Given the description of an element on the screen output the (x, y) to click on. 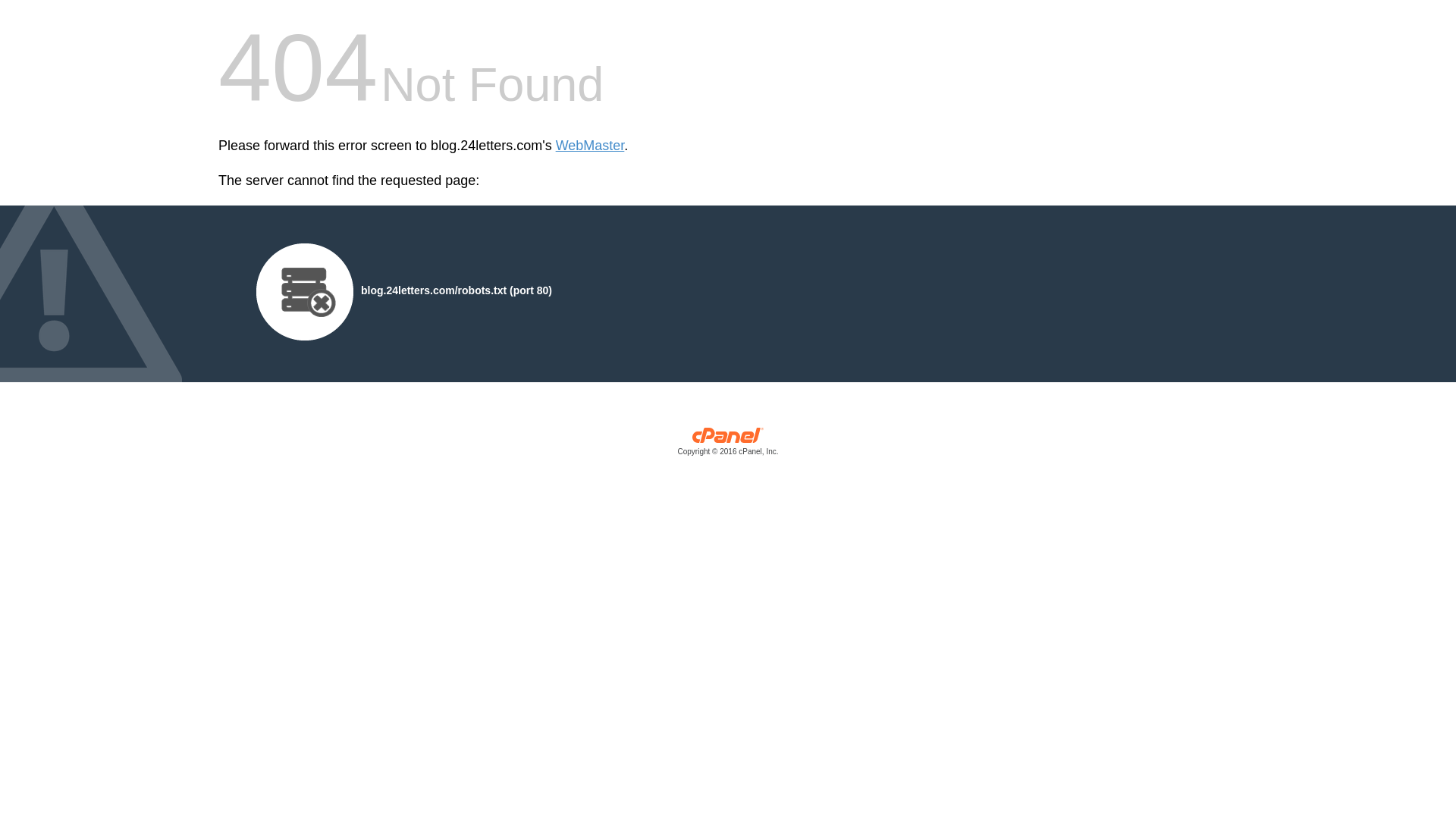
WebMaster Element type: text (589, 145)
